Given the description of an element on the screen output the (x, y) to click on. 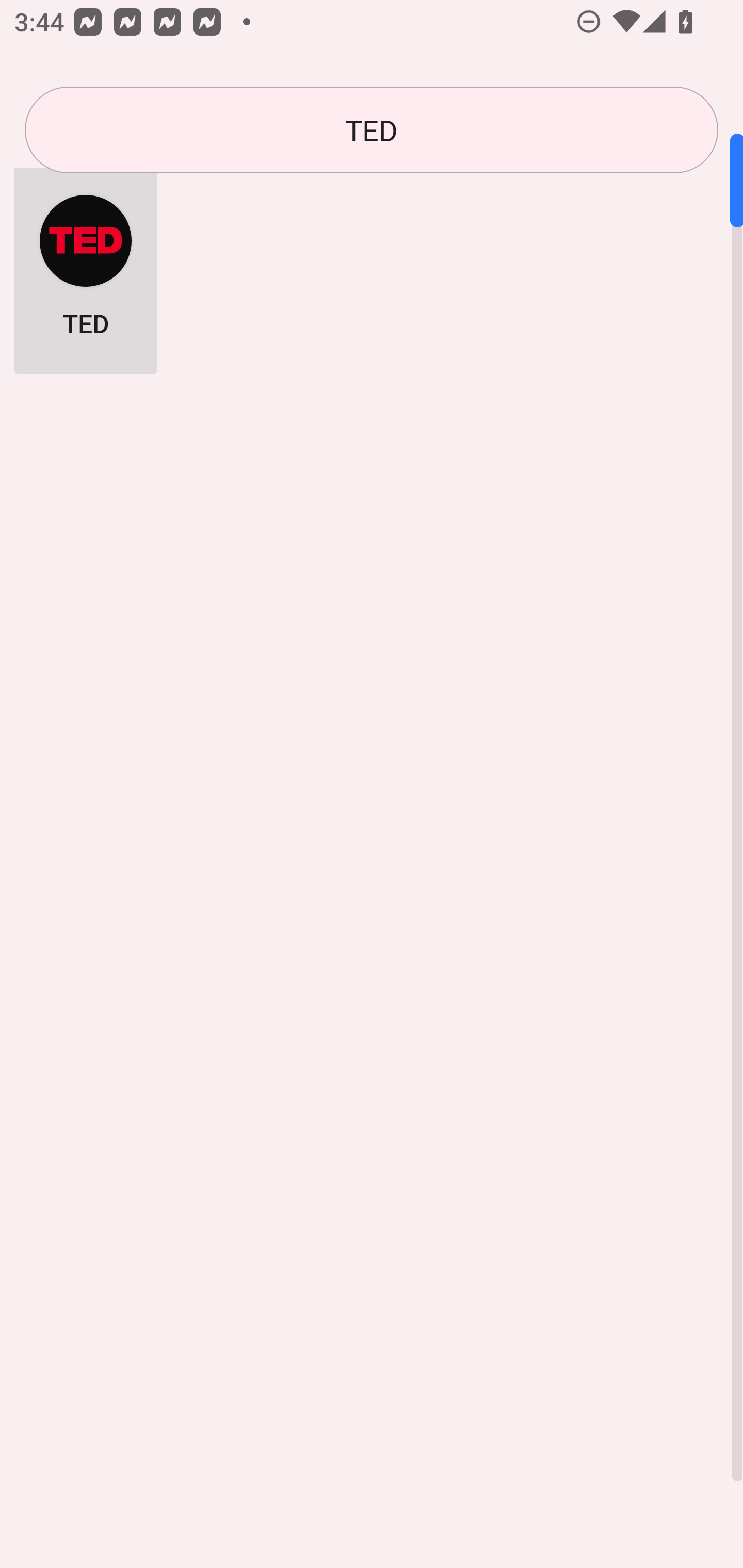
TED (371, 130)
TED (85, 264)
